Given the description of an element on the screen output the (x, y) to click on. 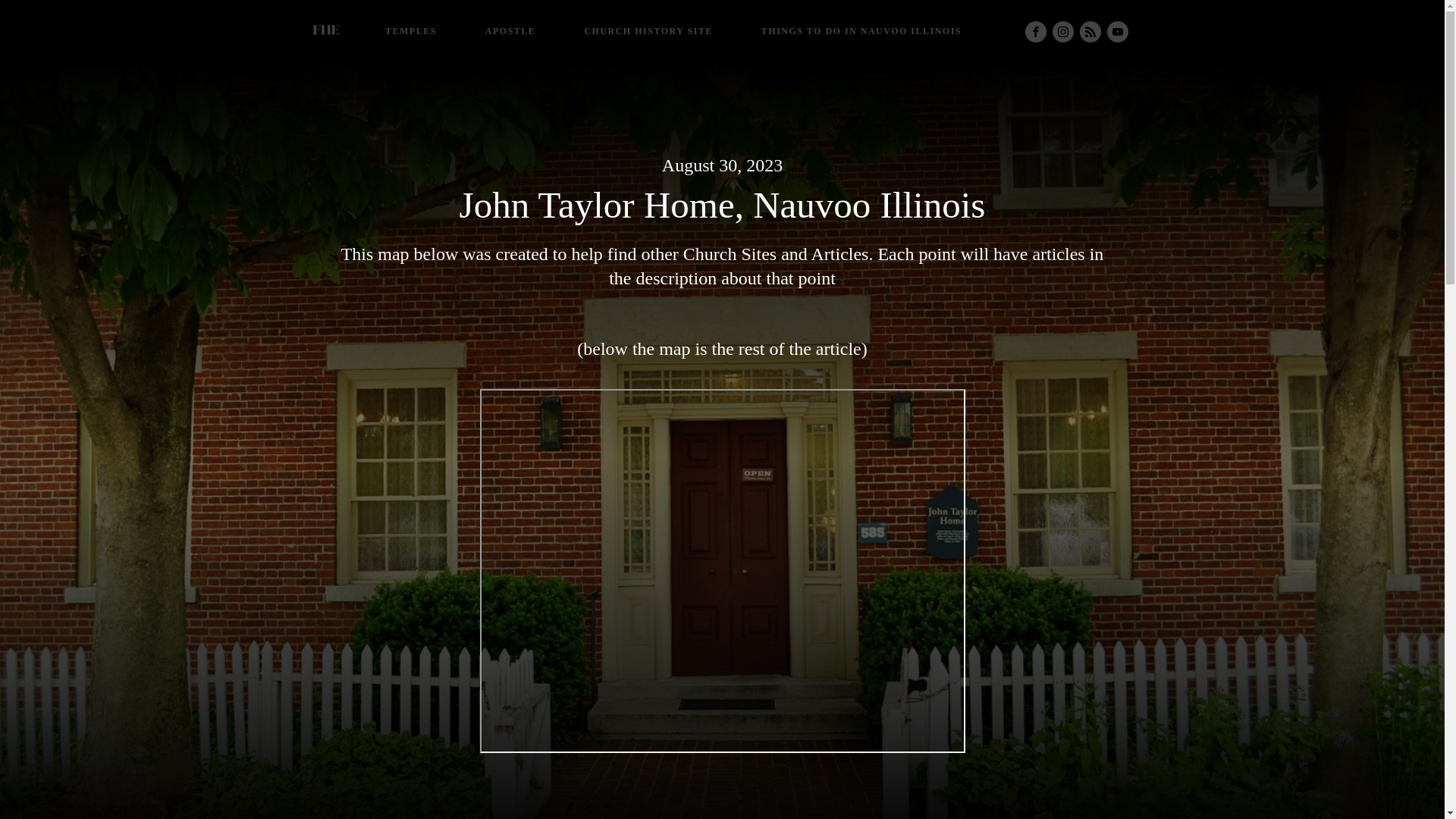
THINGS TO DO IN NAUVOO ILLINOIS (860, 31)
TEMPLES (411, 31)
APOSTLE (510, 31)
CHURCH HISTORY SITE (647, 31)
